Given the description of an element on the screen output the (x, y) to click on. 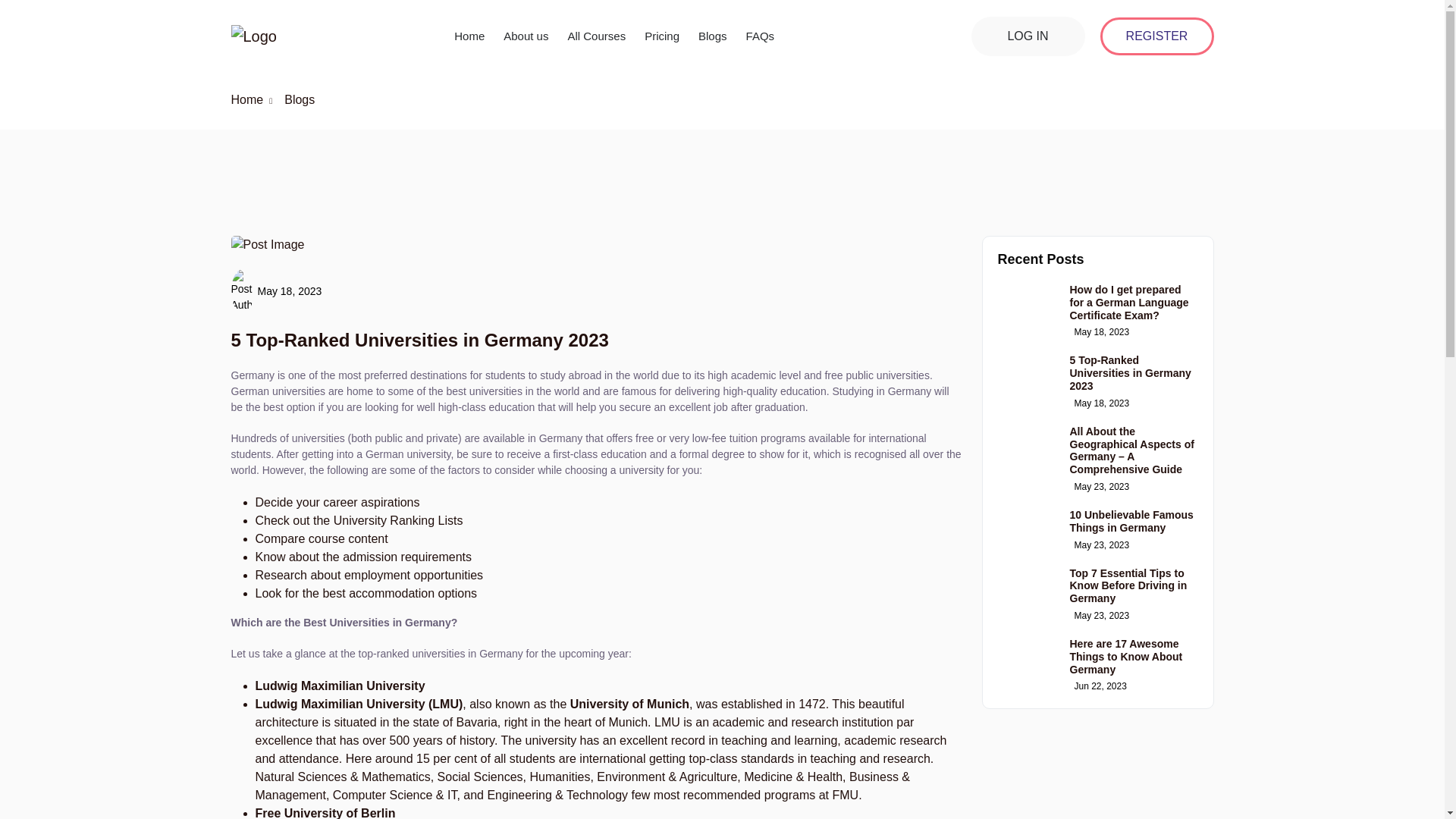
5 Top-Ranked Universities in Germany 2023 (1129, 372)
Here are 17 Awesome Things to Know About Germany (1125, 656)
All Courses (596, 35)
5 Top-Ranked Universities in Germany 2023 (419, 340)
REGISTER (1155, 35)
LOG IN (1027, 36)
Top 7 Essential Tips to Know Before Driving in Germany (1127, 586)
Home (246, 99)
10 Unbelievable Famous Things in Germany (1130, 520)
